Given the description of an element on the screen output the (x, y) to click on. 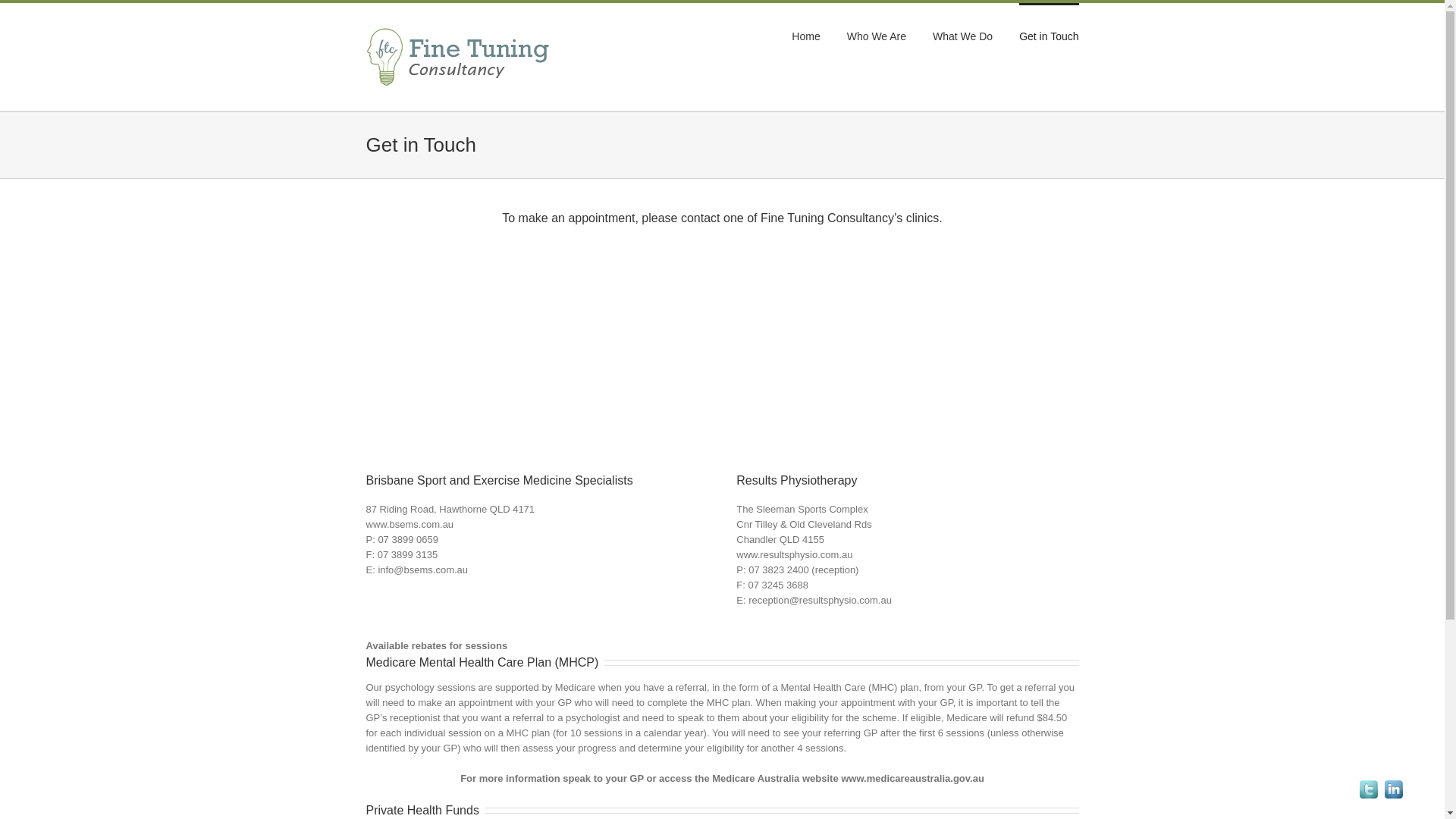
Visit Us On Twitter Element type: hover (1367, 784)
Home Element type: text (805, 35)
What We Do Element type: text (962, 35)
Who We Are Element type: text (876, 35)
Visit Us On Linkedin Element type: hover (1392, 784)
Get in Touch Element type: text (1048, 35)
